Given the description of an element on the screen output the (x, y) to click on. 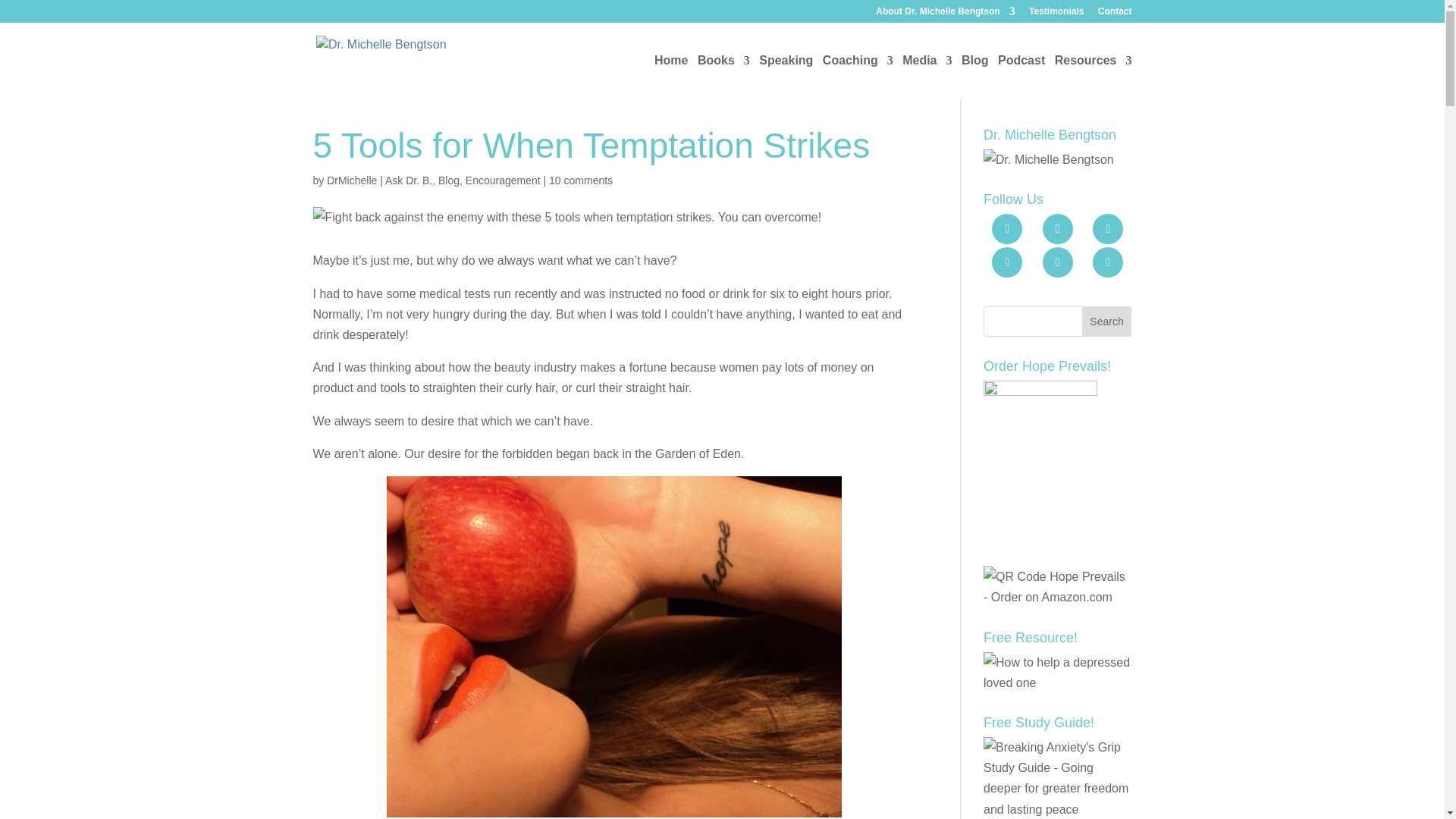
Search (1106, 321)
Books (723, 76)
Speaking (785, 76)
Resources (1093, 76)
Posts by DrMichelle (351, 180)
Testimonials (1056, 14)
Podcast (1021, 76)
About Dr. Michelle Bengtson (945, 14)
Contact (1114, 14)
Media (927, 76)
